Given the description of an element on the screen output the (x, y) to click on. 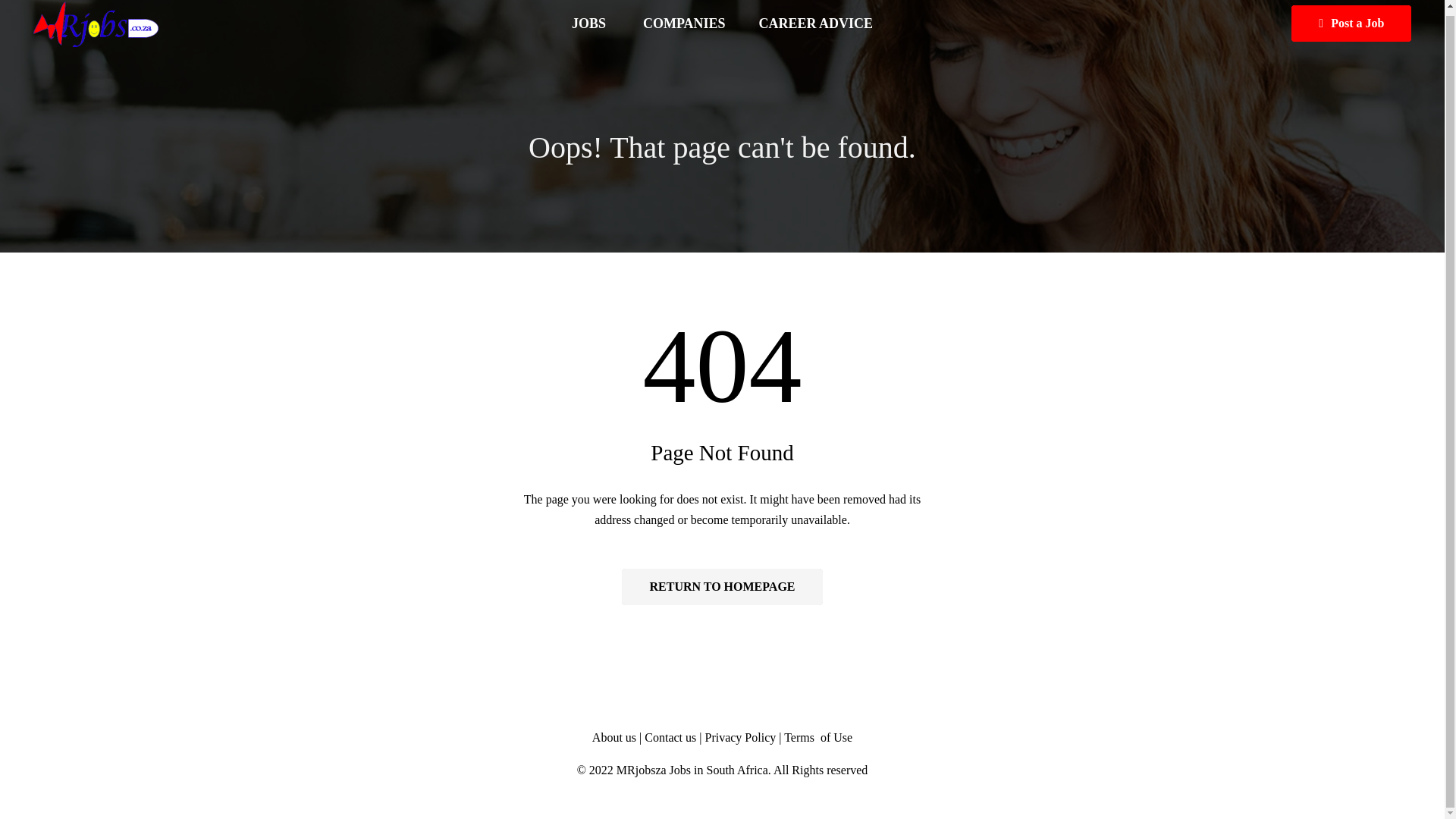
COMPANIES (684, 24)
Contact us (671, 737)
About us (614, 737)
RETURN TO HOMEPAGE (721, 586)
Terms  of Use (817, 737)
Privacy Policy (740, 737)
Home Page (721, 586)
CAREER ADVICE (816, 24)
JOBS (590, 24)
Post a Job (1350, 22)
